Given the description of an element on the screen output the (x, y) to click on. 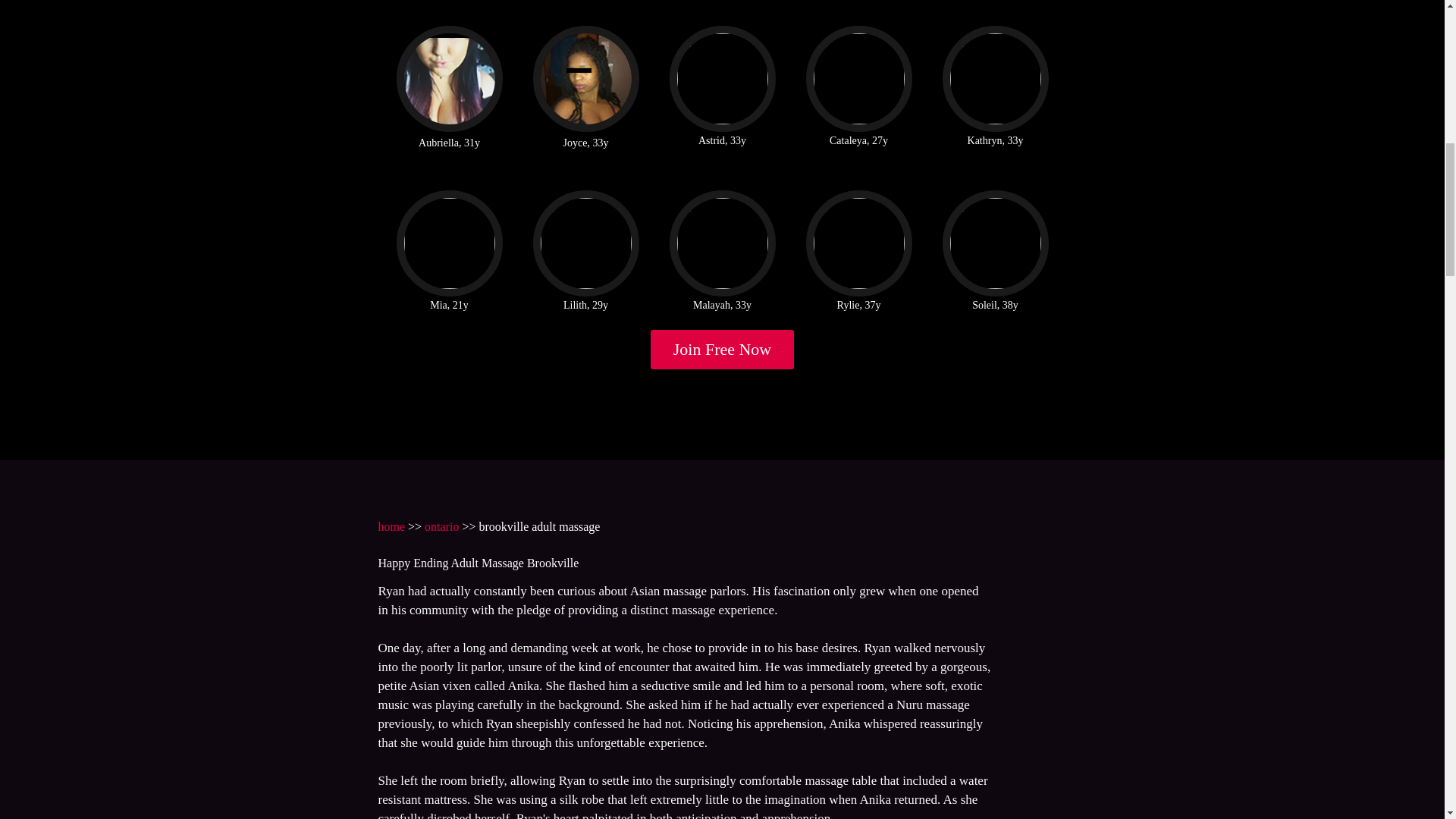
home (390, 526)
Join Free Now (722, 349)
ontario (441, 526)
Join (722, 349)
